Given the description of an element on the screen output the (x, y) to click on. 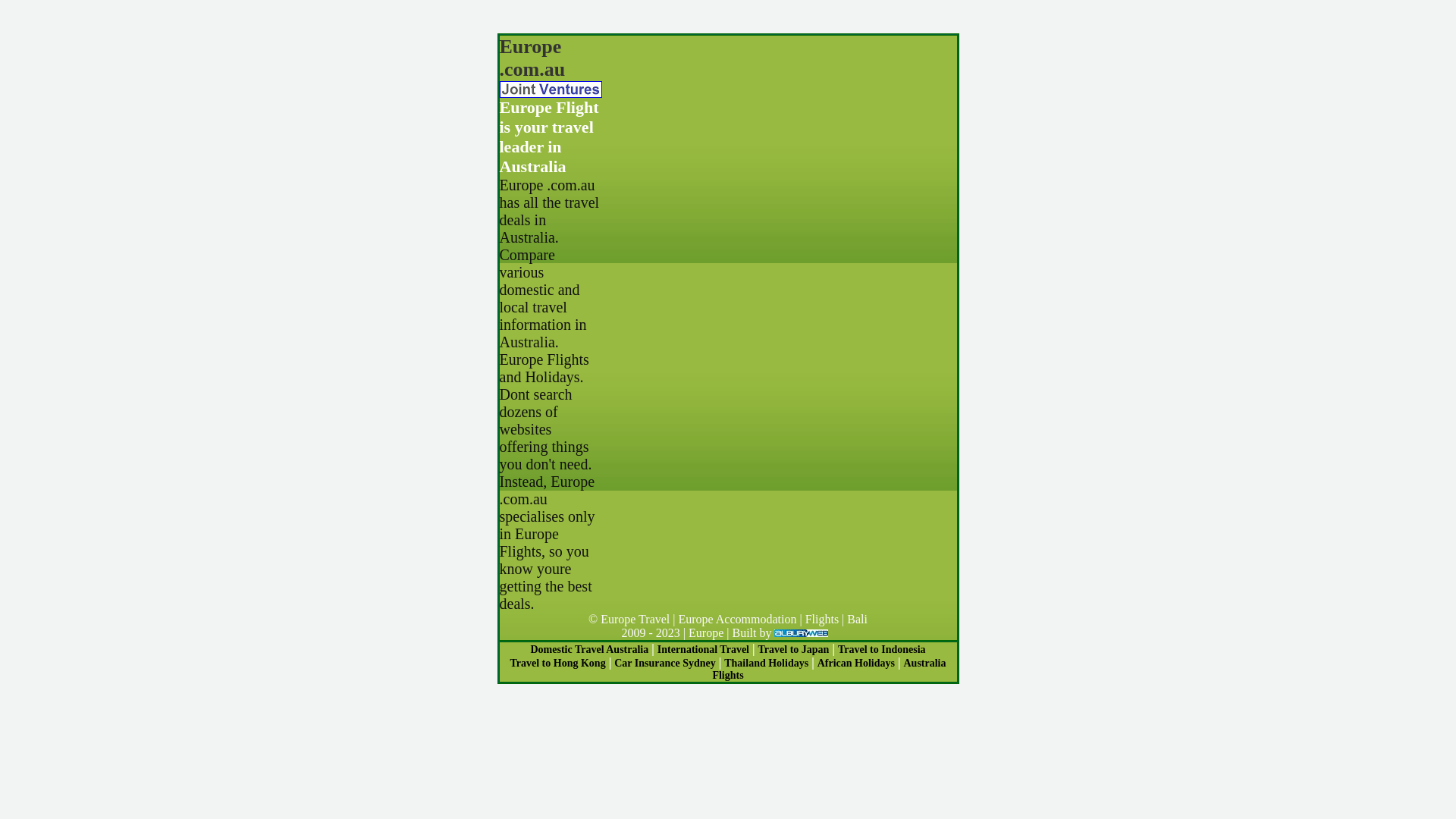
Car Insurance Sydney Element type: text (664, 662)
African Holidays Element type: text (855, 662)
Australia Flights Element type: text (828, 668)
Thailand Holidays Element type: text (766, 662)
Travel to Indonesia Element type: text (881, 649)
Domestic Travel Australia Element type: text (589, 649)
Travel to Hong Kong Element type: text (557, 662)
Advertisement Element type: hover (779, 41)
Travel to Japan Element type: text (793, 649)
International Travel Element type: text (703, 649)
